Given the description of an element on the screen output the (x, y) to click on. 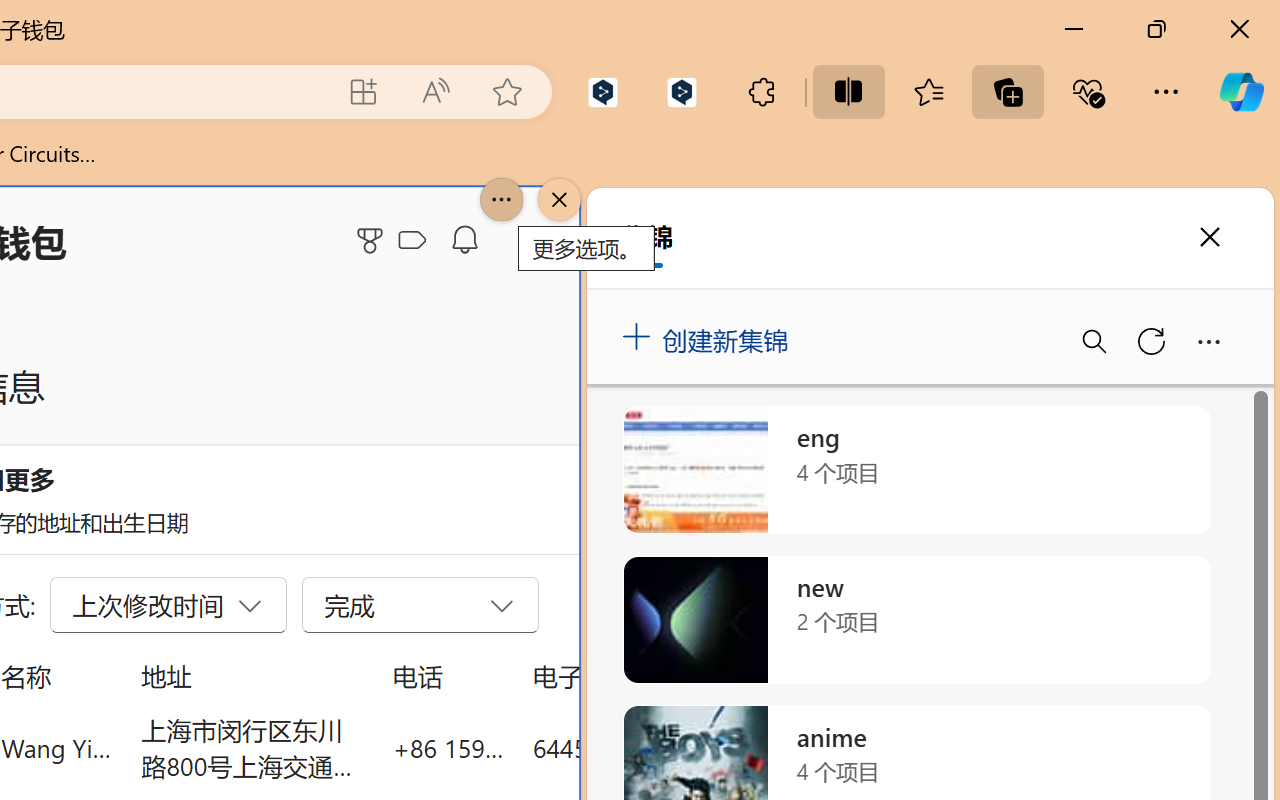
Microsoft Cashback (415, 241)
644553698@qq.com (644, 747)
